Given the description of an element on the screen output the (x, y) to click on. 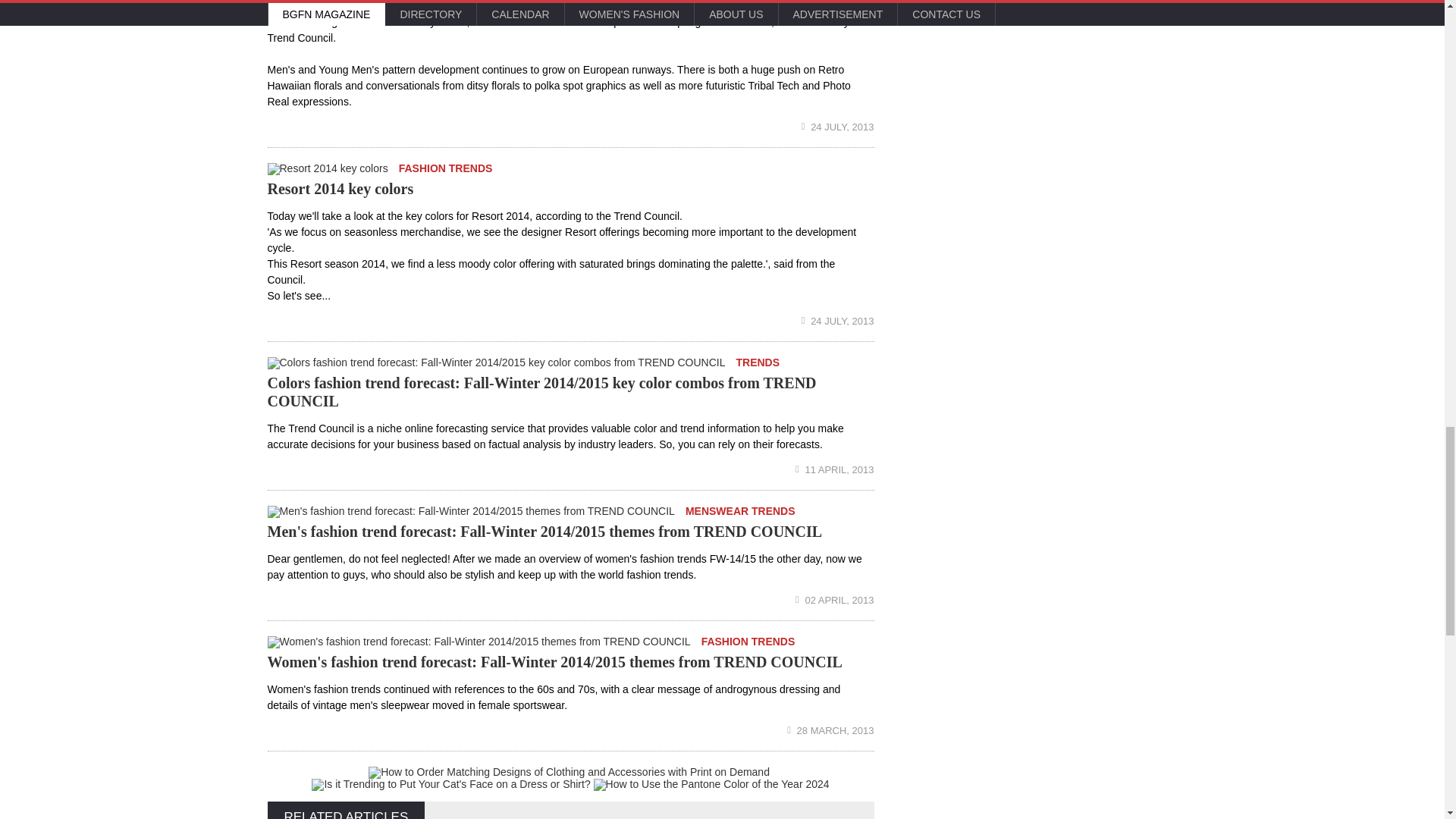
Is it Trending to Put Your Cat's Face on a Dress or Shirt? (450, 784)
How to Use the Pantone Color of the Year 2024 (711, 784)
